Given the description of an element on the screen output the (x, y) to click on. 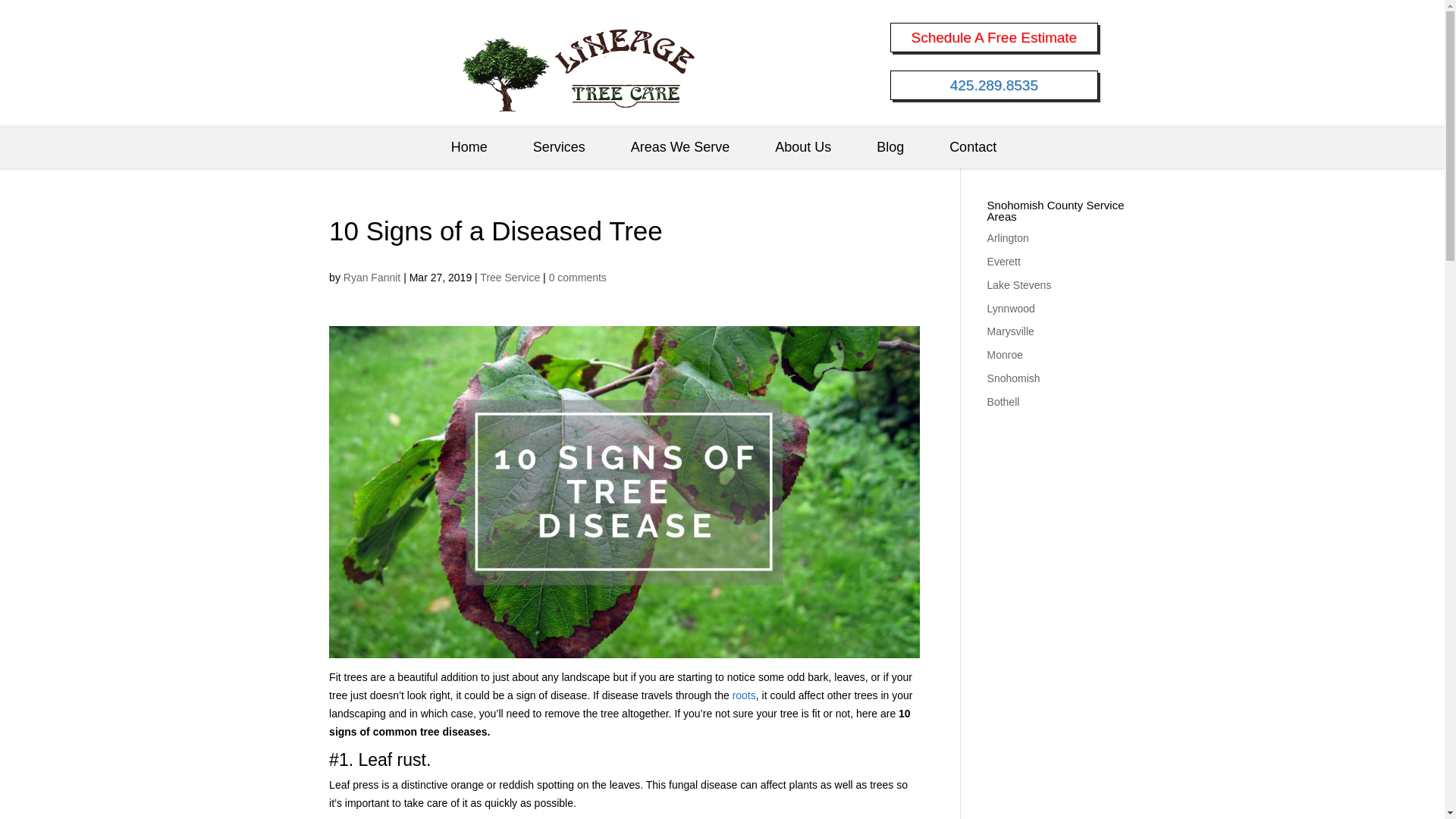
Ryan Fannit (371, 277)
Arlington (1008, 237)
Bothell (1003, 401)
Areas We Serve (680, 147)
0 comments (577, 277)
About Us (802, 147)
Snohomish (1014, 378)
Posts by Ryan Fannit (371, 277)
Services (559, 147)
Contact (972, 147)
Schedule A Free Estimate (994, 37)
Lynnwood (1011, 308)
Marysville (1010, 331)
Tree Service (510, 277)
Blog (889, 147)
